Given the description of an element on the screen output the (x, y) to click on. 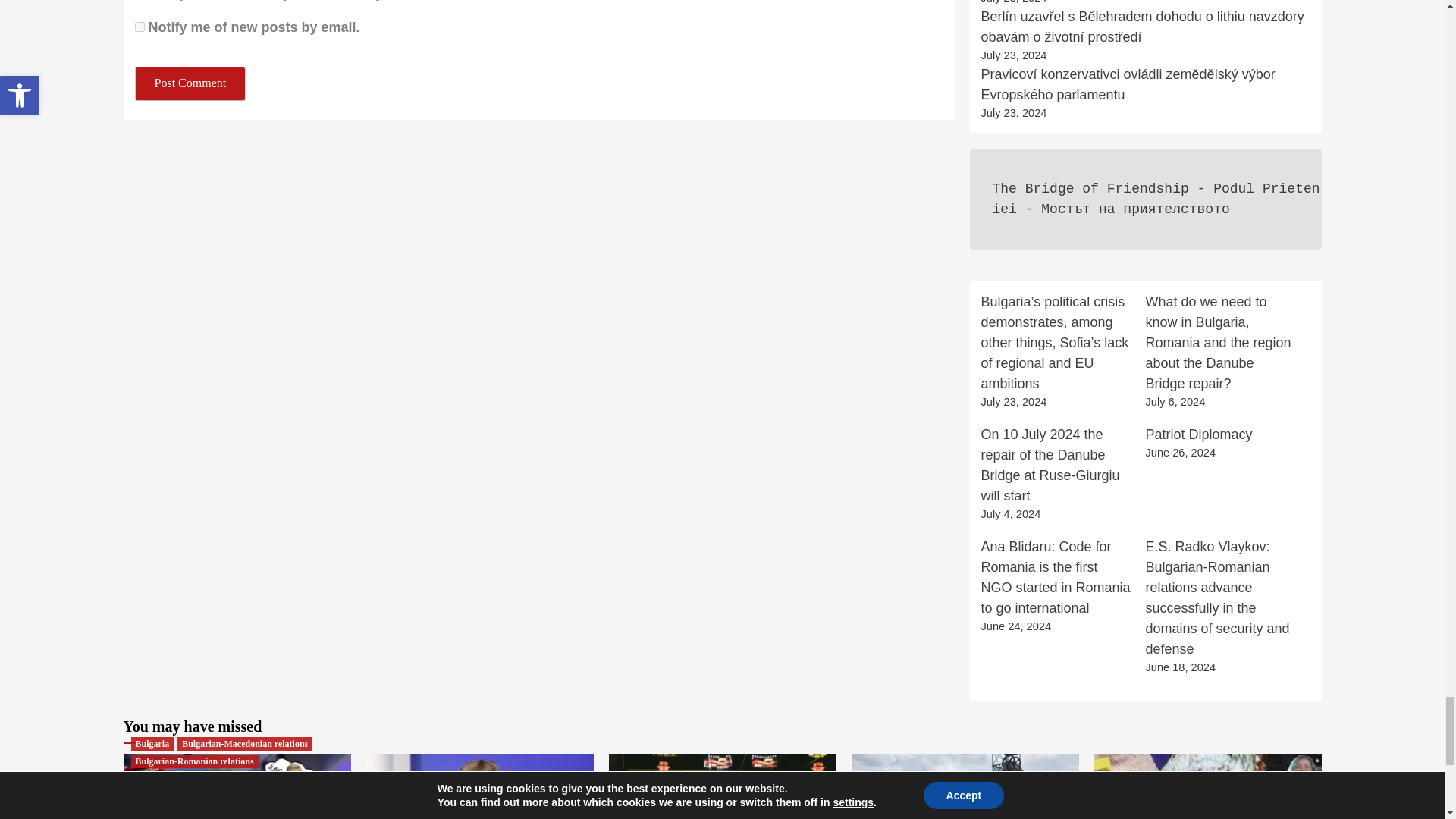
subscribe (139, 26)
Post Comment (190, 83)
